Given the description of an element on the screen output the (x, y) to click on. 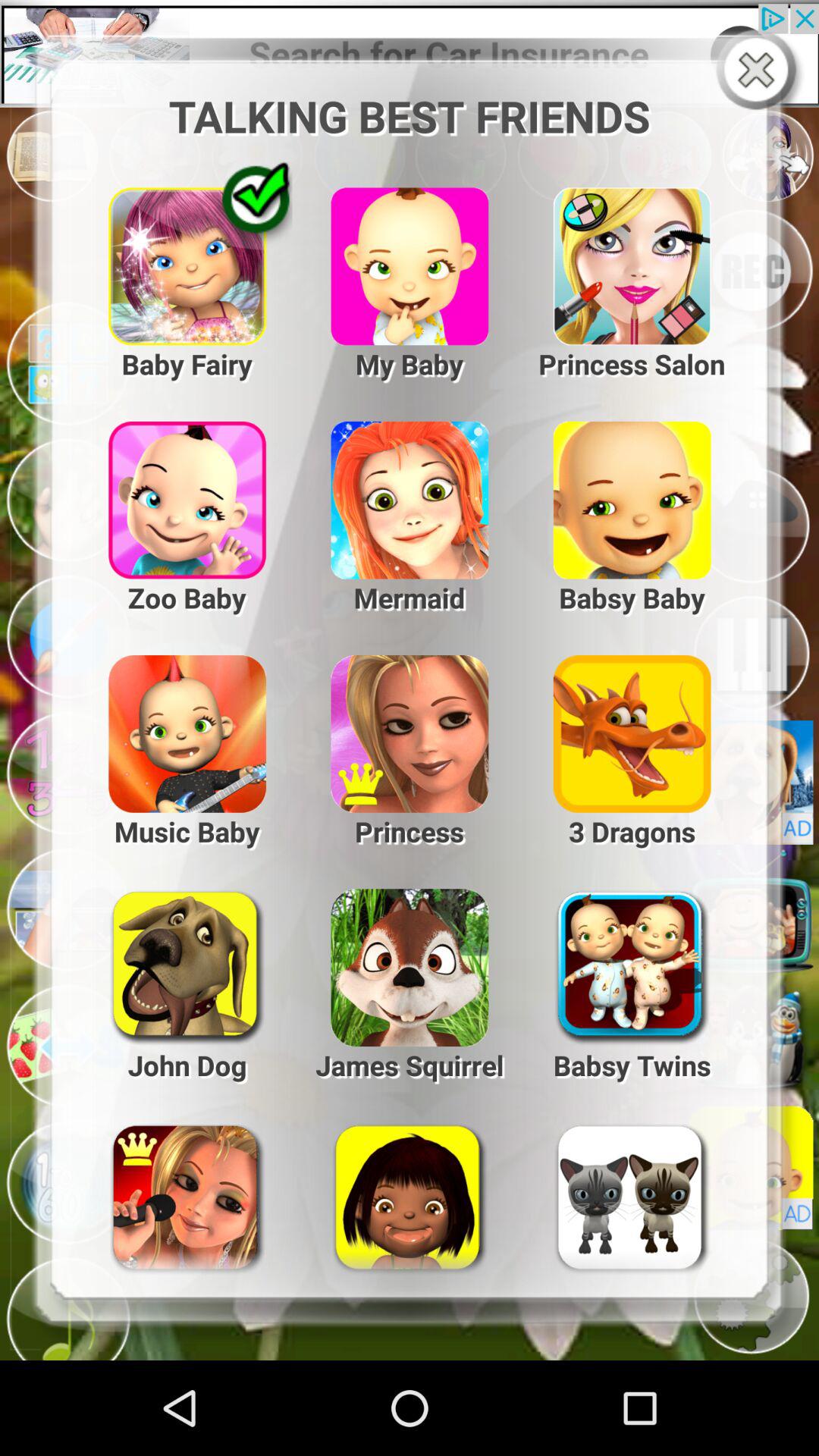
close best friends (759, 71)
